Given the description of an element on the screen output the (x, y) to click on. 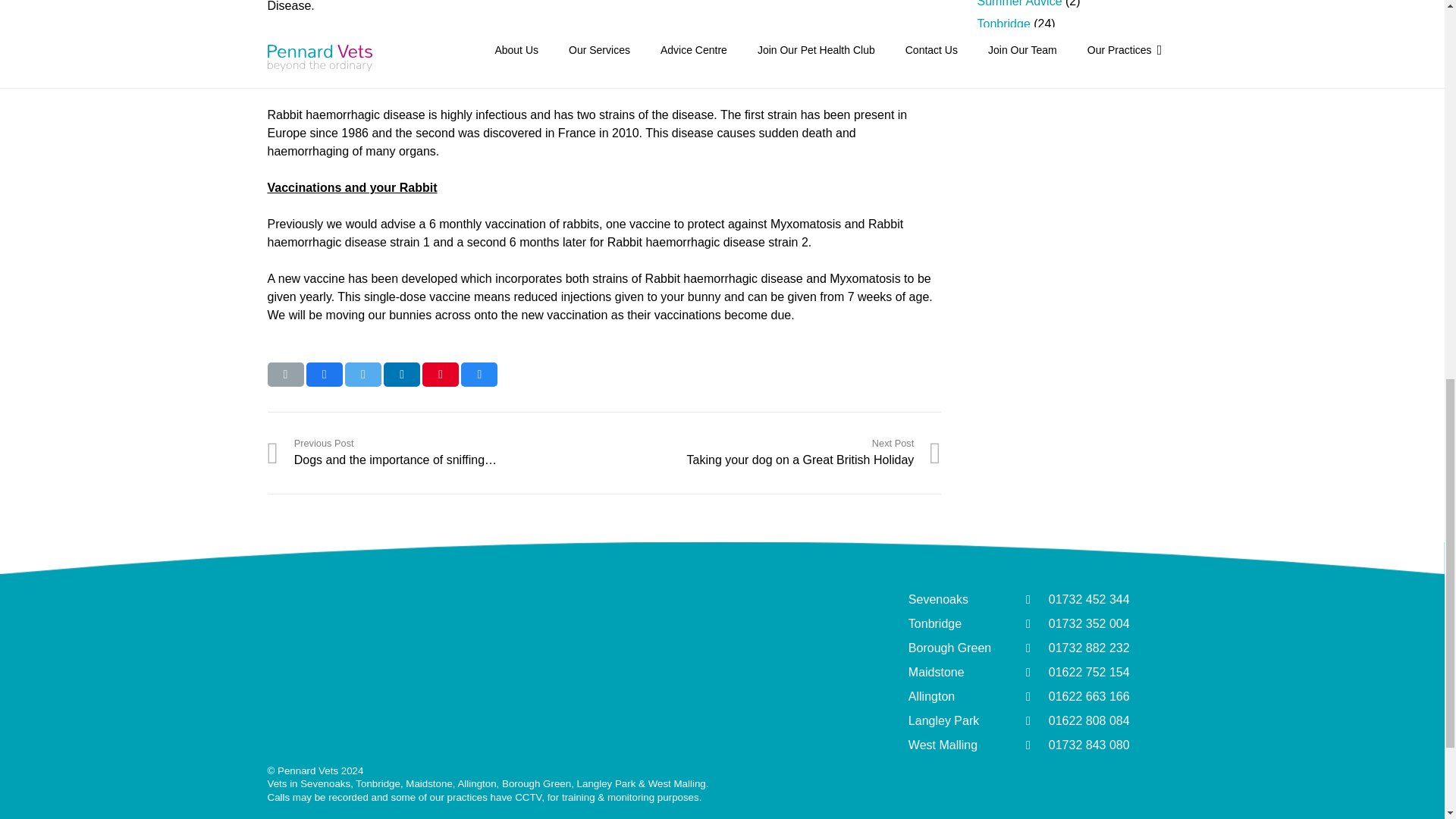
Share this (402, 374)
Tweet this (363, 374)
Email this (284, 374)
Pin this (440, 374)
Taking your dog on a Great British Holiday (772, 451)
Share this (323, 374)
Share this (479, 374)
